Given the description of an element on the screen output the (x, y) to click on. 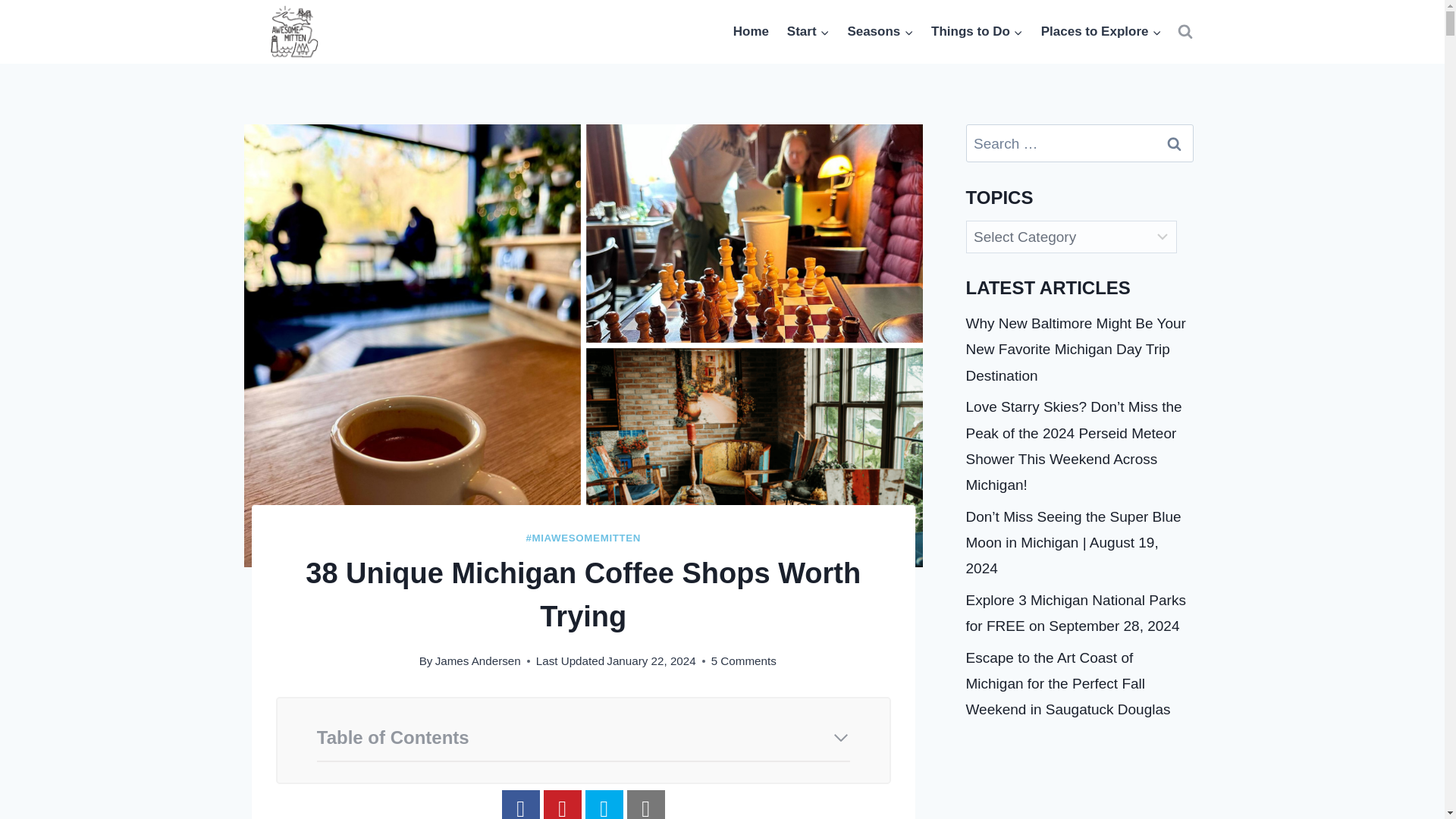
Home (750, 31)
Search (1174, 143)
Search (1174, 143)
5 Comments (743, 661)
Things to Do (976, 31)
Seasons (879, 31)
Table of Contents (582, 740)
Places to Explore (1101, 31)
Start (807, 31)
